Given the description of an element on the screen output the (x, y) to click on. 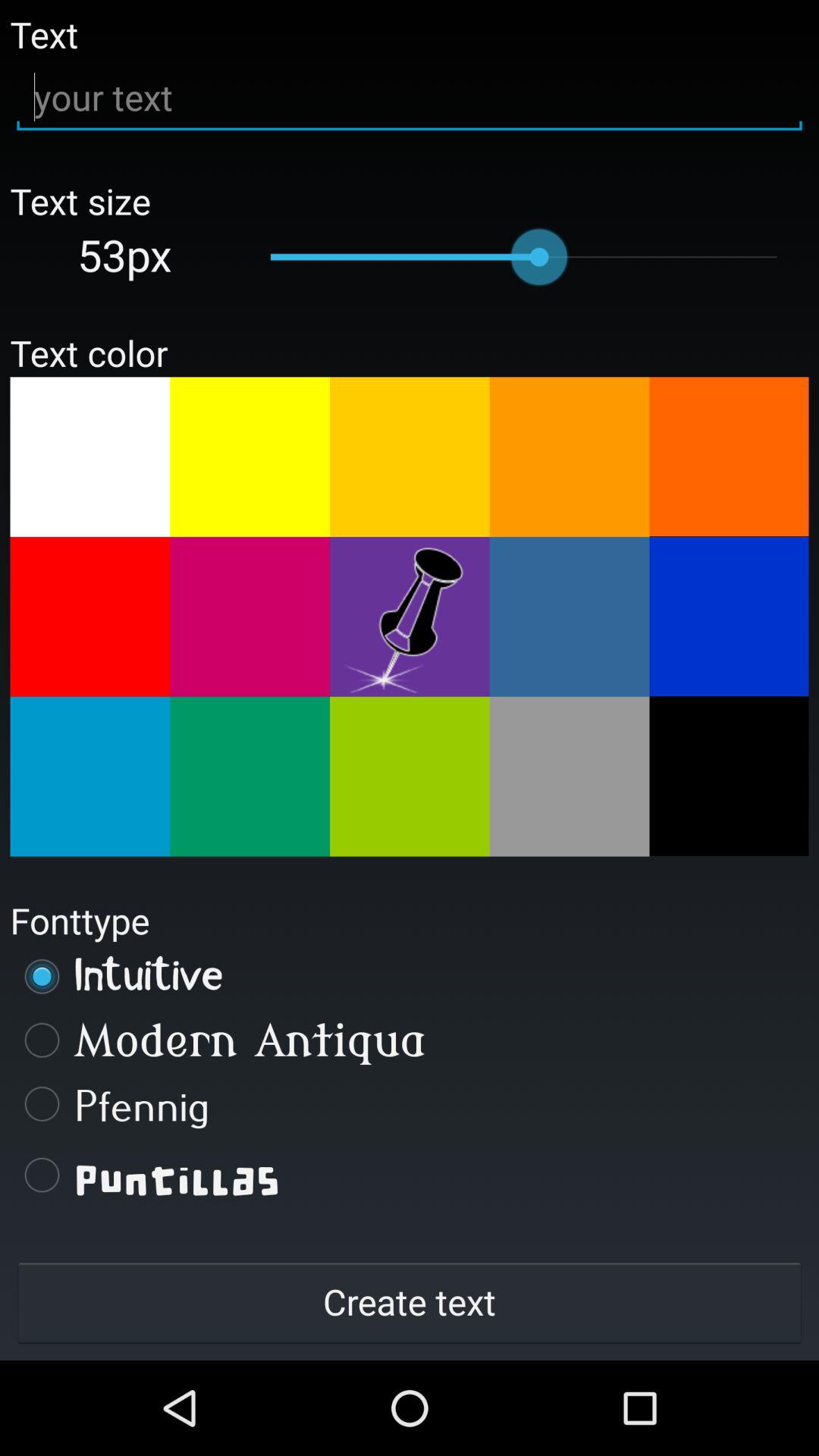
change text color to yellow (249, 456)
